Given the description of an element on the screen output the (x, y) to click on. 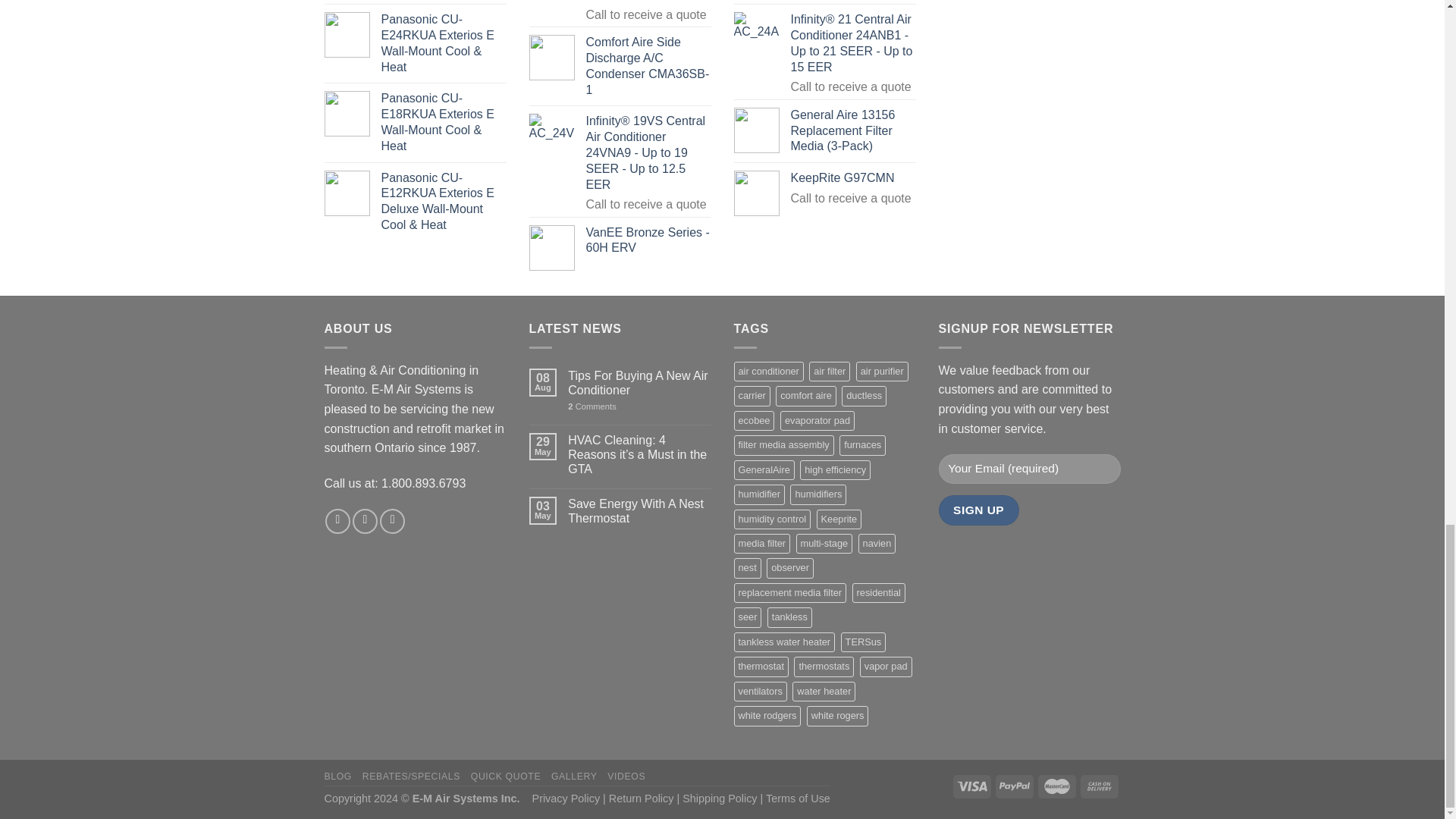
Tips For Buying A New Air Conditioner (638, 382)
Sign Up (979, 509)
Save Energy With A Nest Thermostat (638, 510)
